Given the description of an element on the screen output the (x, y) to click on. 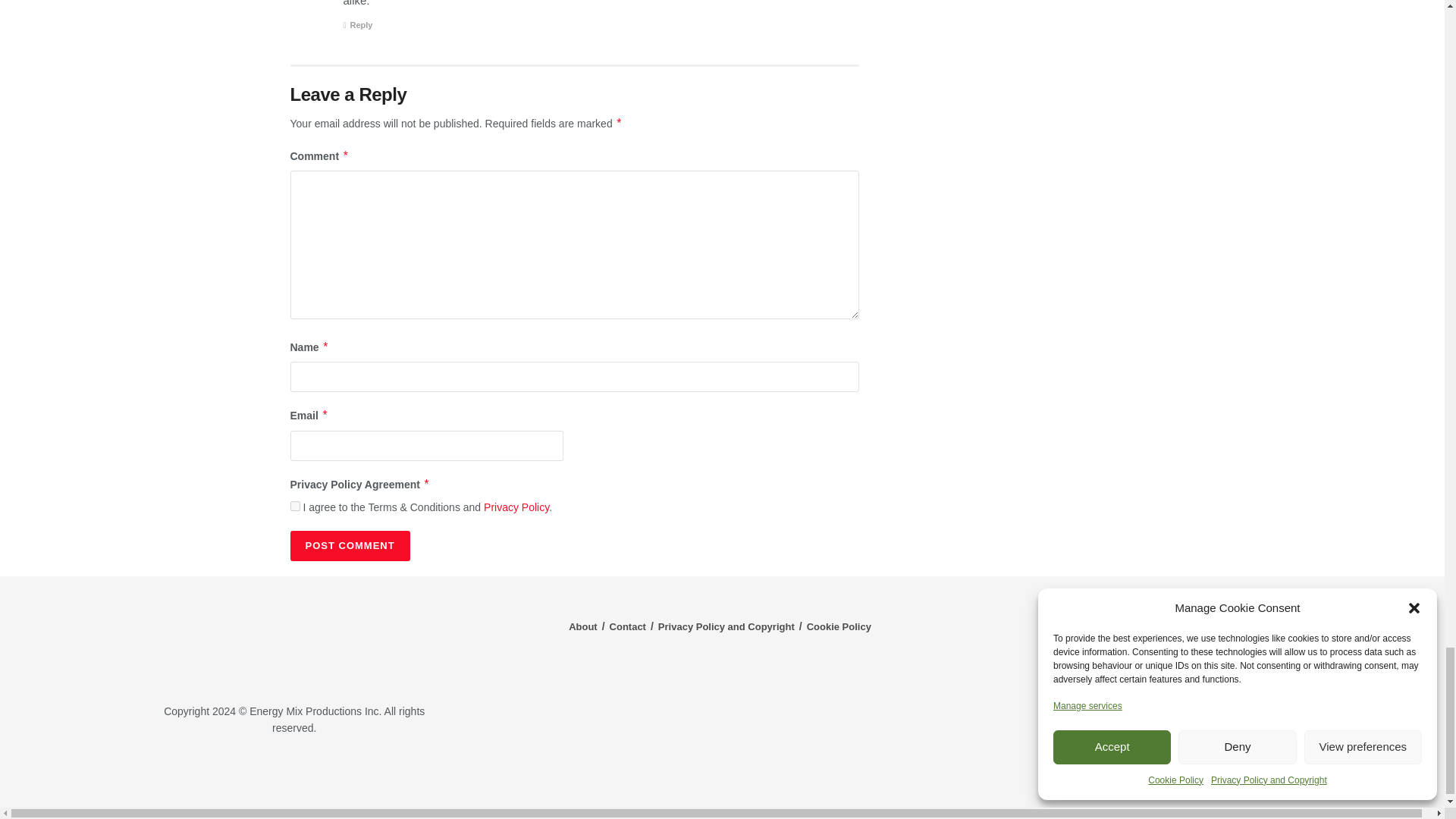
Post Comment (349, 545)
Climate-and-Capital (1221, 772)
tem-logo-2024 (294, 640)
on (294, 506)
